Given the description of an element on the screen output the (x, y) to click on. 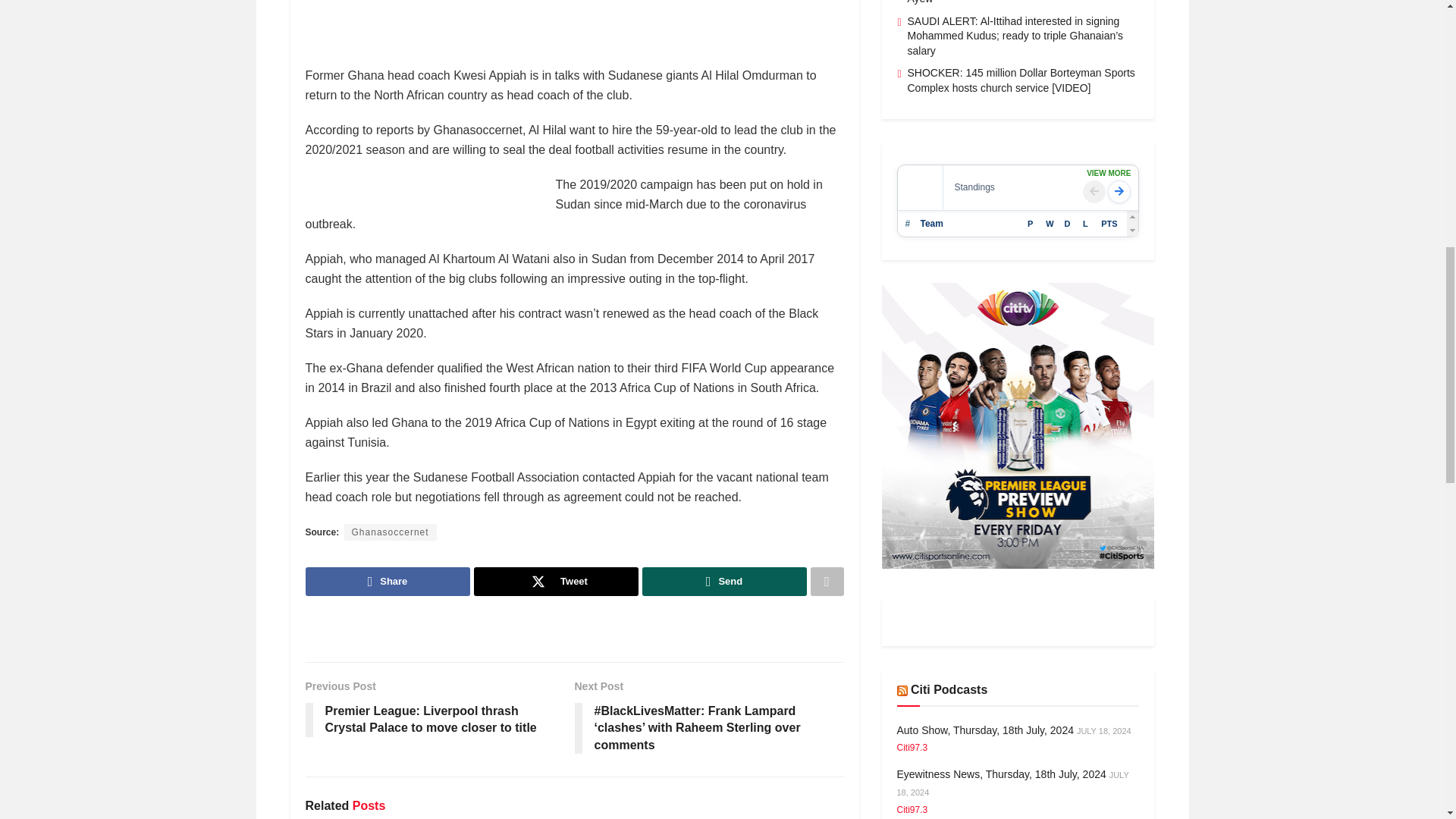
Advertisement (580, 30)
